Given the description of an element on the screen output the (x, y) to click on. 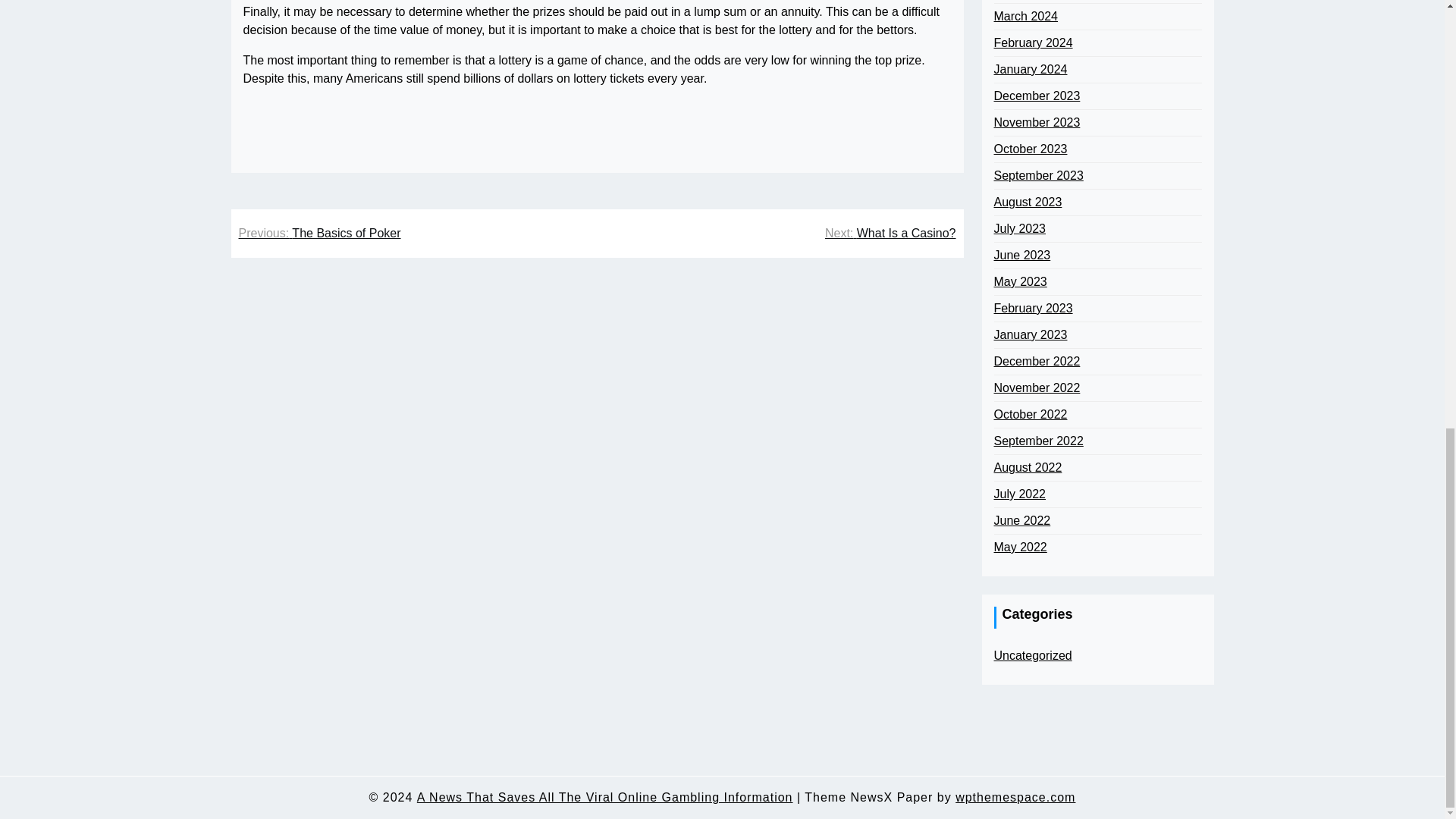
January 2023 (1029, 334)
February 2023 (1031, 308)
Next: What Is a Casino? (890, 233)
July 2023 (1018, 229)
June 2023 (1020, 255)
Previous: The Basics of Poker (319, 233)
September 2023 (1037, 176)
December 2023 (1036, 95)
November 2023 (1036, 122)
March 2024 (1025, 16)
